Given the description of an element on the screen output the (x, y) to click on. 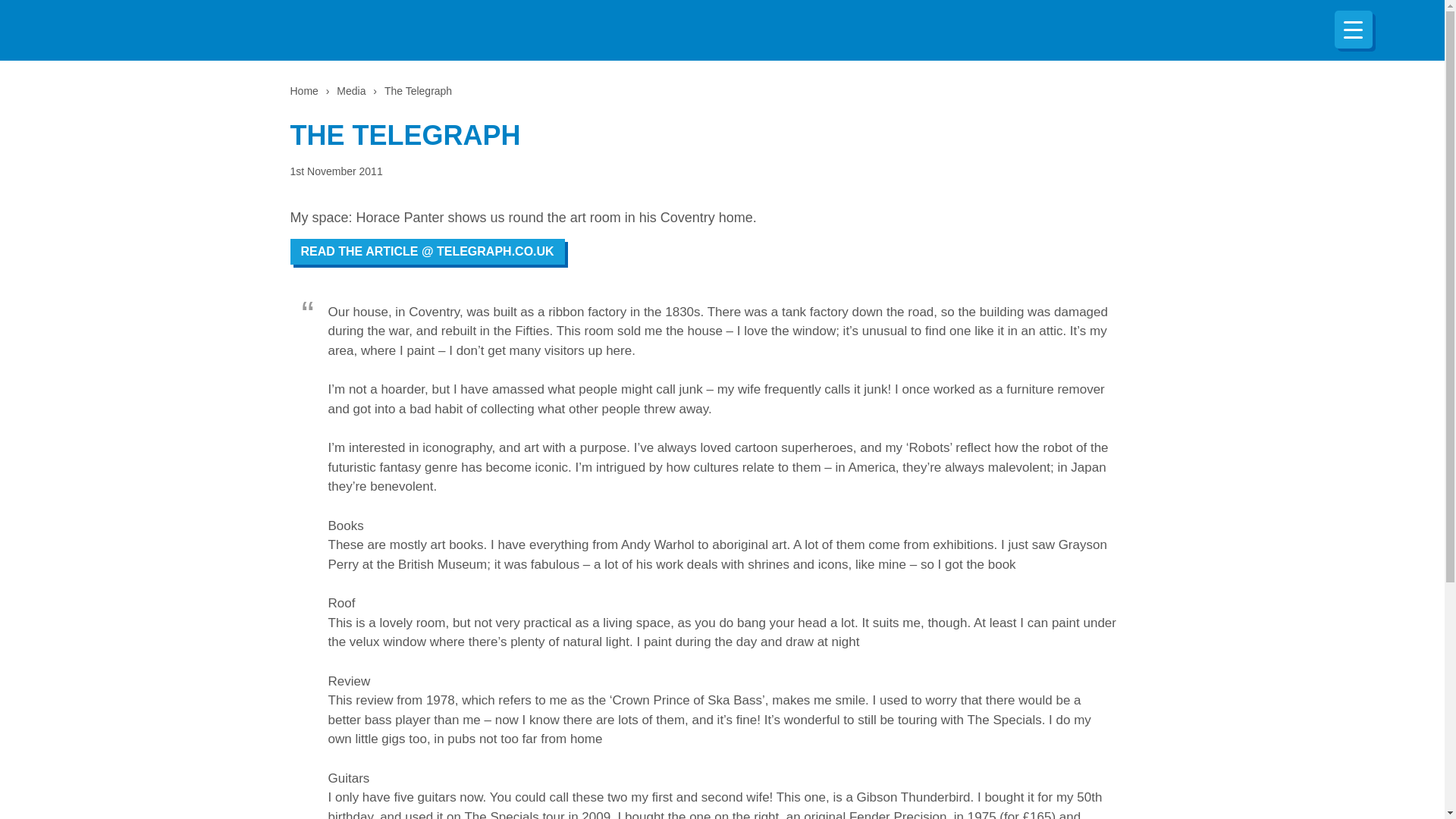
HORACE PANTER ART (635, 30)
Home (303, 91)
Media (350, 91)
